Given the description of an element on the screen output the (x, y) to click on. 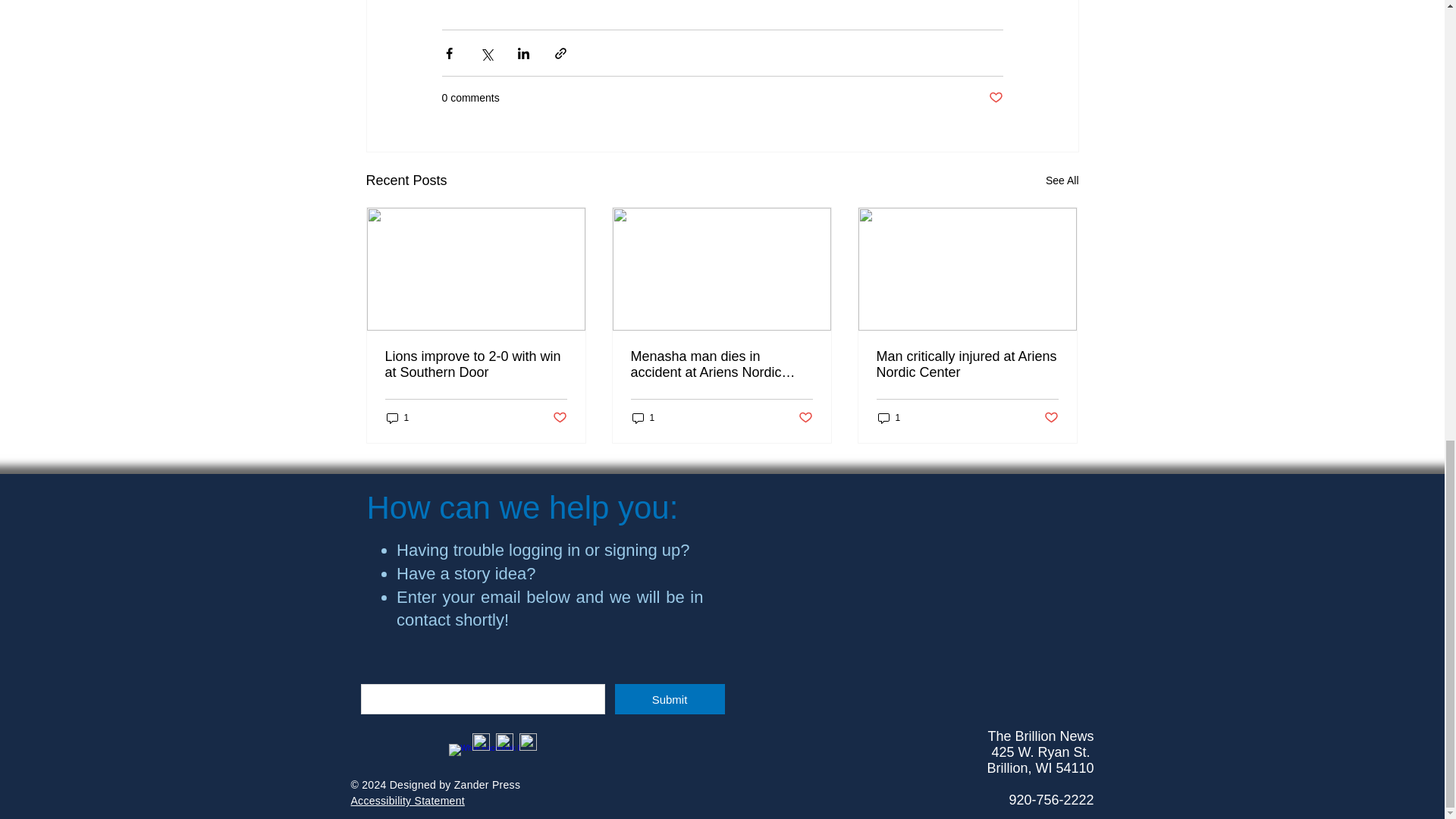
Post not marked as liked (558, 417)
1 (397, 417)
See All (1061, 180)
Lions improve to 2-0 with win at Southern Door (476, 364)
Post not marked as liked (995, 98)
